Given the description of an element on the screen output the (x, y) to click on. 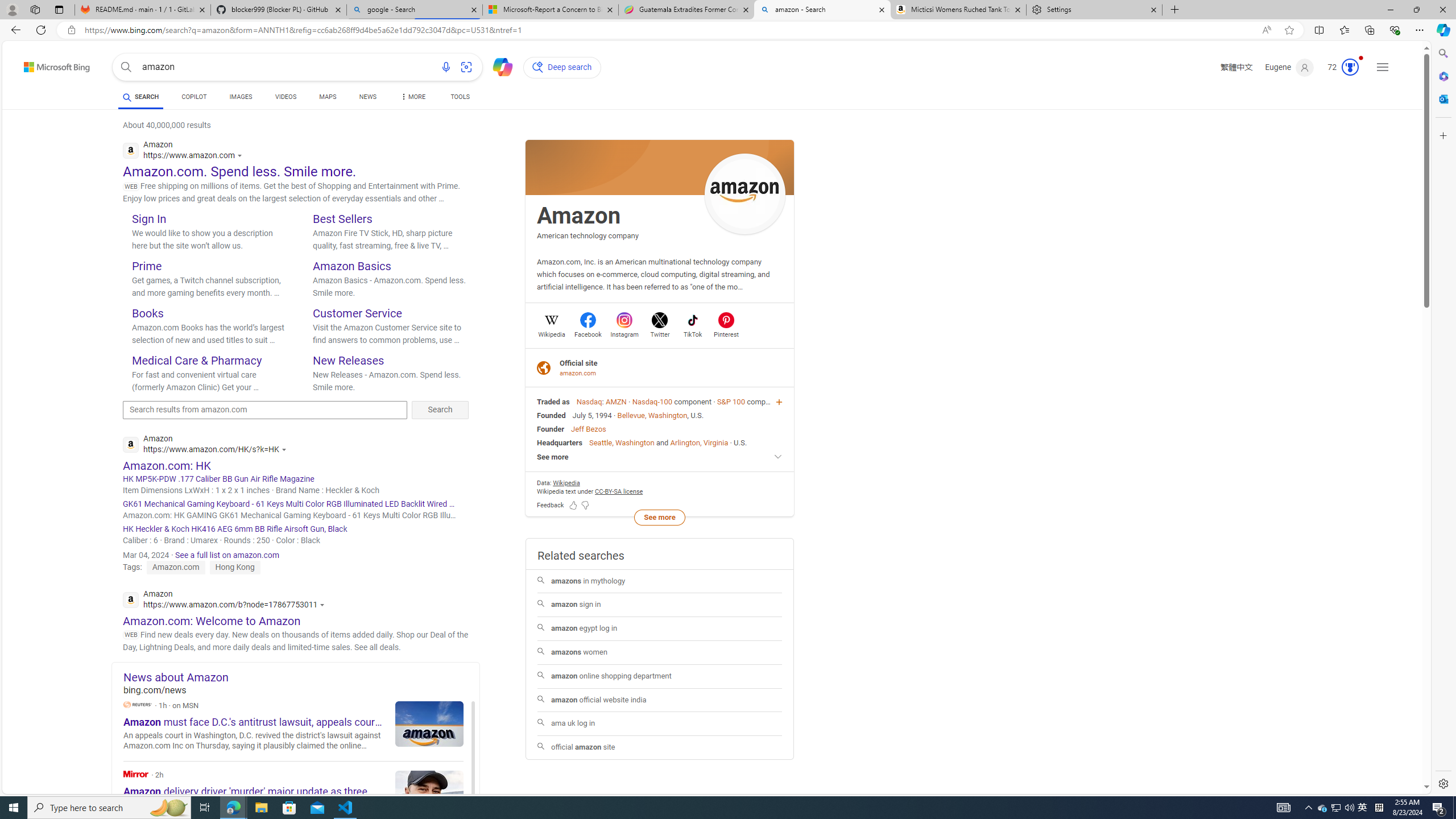
Class: sp-ofsite (543, 367)
Seattle, Washington (622, 442)
ama uk log in (659, 723)
Medical Care & Pharmacy (197, 359)
MAPS (327, 96)
amazon.com (578, 373)
AutomationID: mfa_root (1383, 752)
AutomationID: serp_medal_svg (1349, 67)
